Given the description of an element on the screen output the (x, y) to click on. 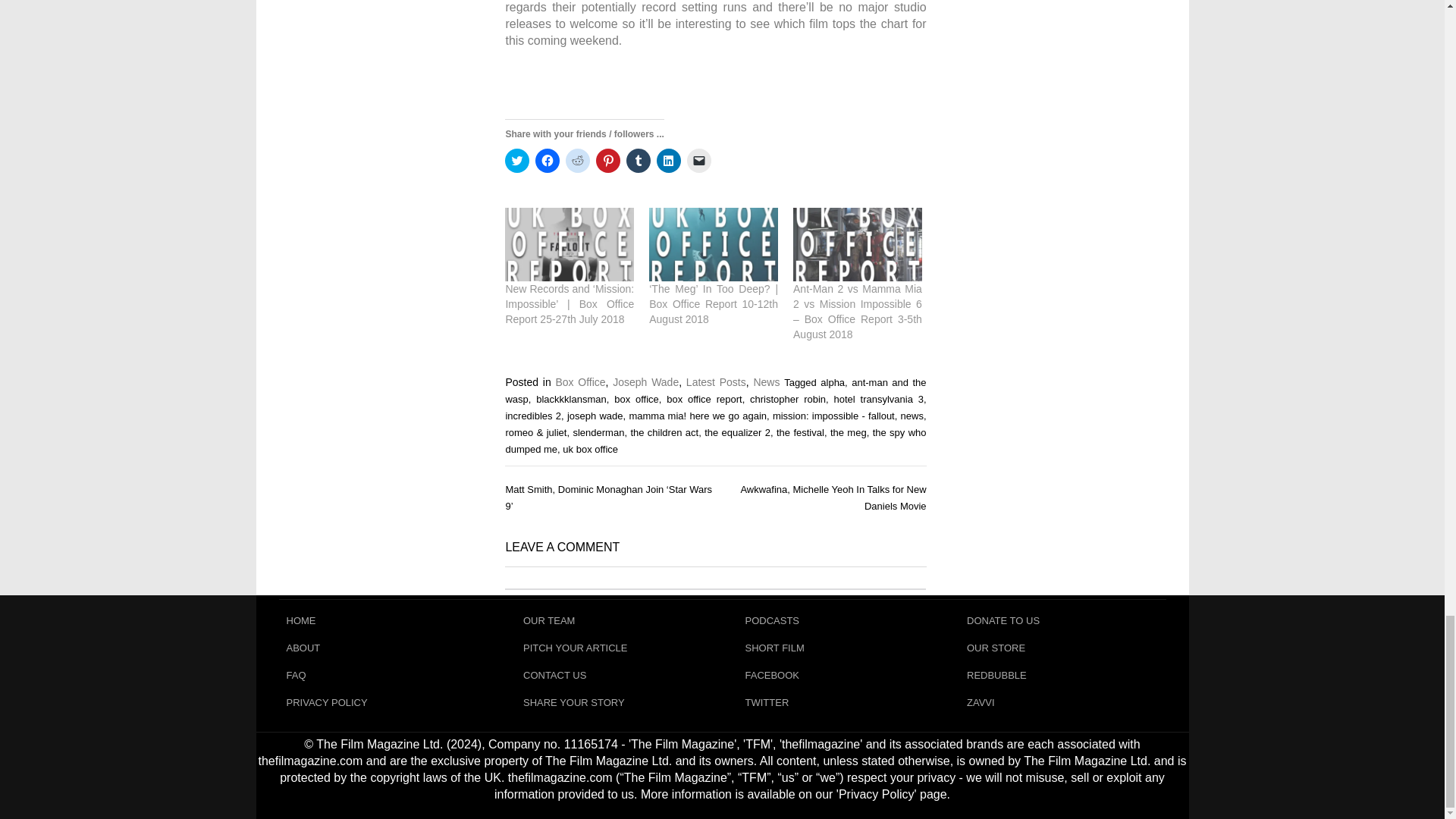
Click to share on Reddit (577, 160)
Click to email a link to a friend (699, 160)
Click to share on Pinterest (607, 160)
Click to share on Tumblr (638, 160)
Click to share on Facebook (547, 160)
Click to share on LinkedIn (668, 160)
Click to share on Twitter (517, 160)
